Given the description of an element on the screen output the (x, y) to click on. 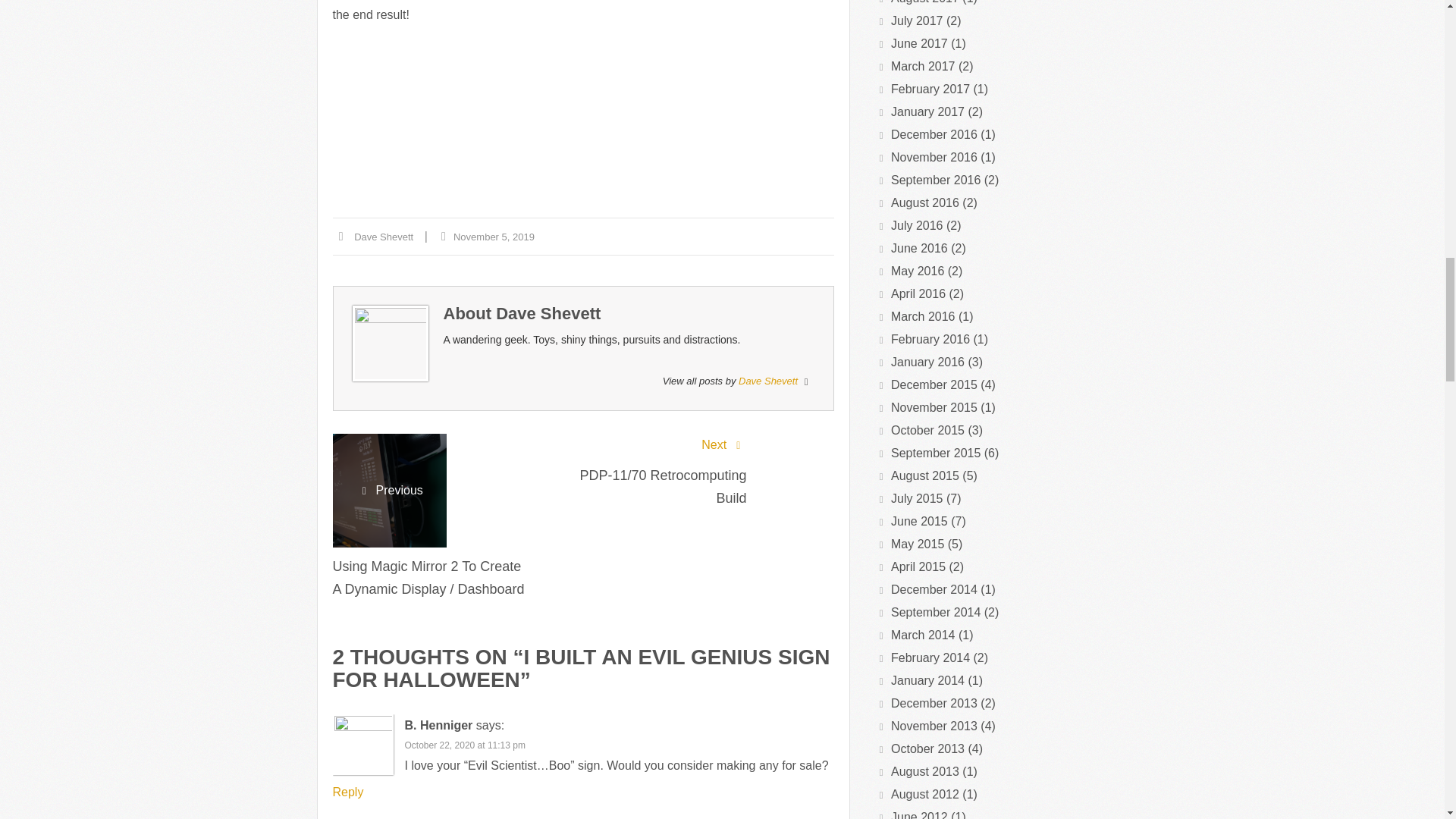
Halloween Evil Scientist LED Sign (697, 87)
Posts by Dave Shevett (547, 312)
Posts by Dave Shevett (767, 380)
